Given the description of an element on the screen output the (x, y) to click on. 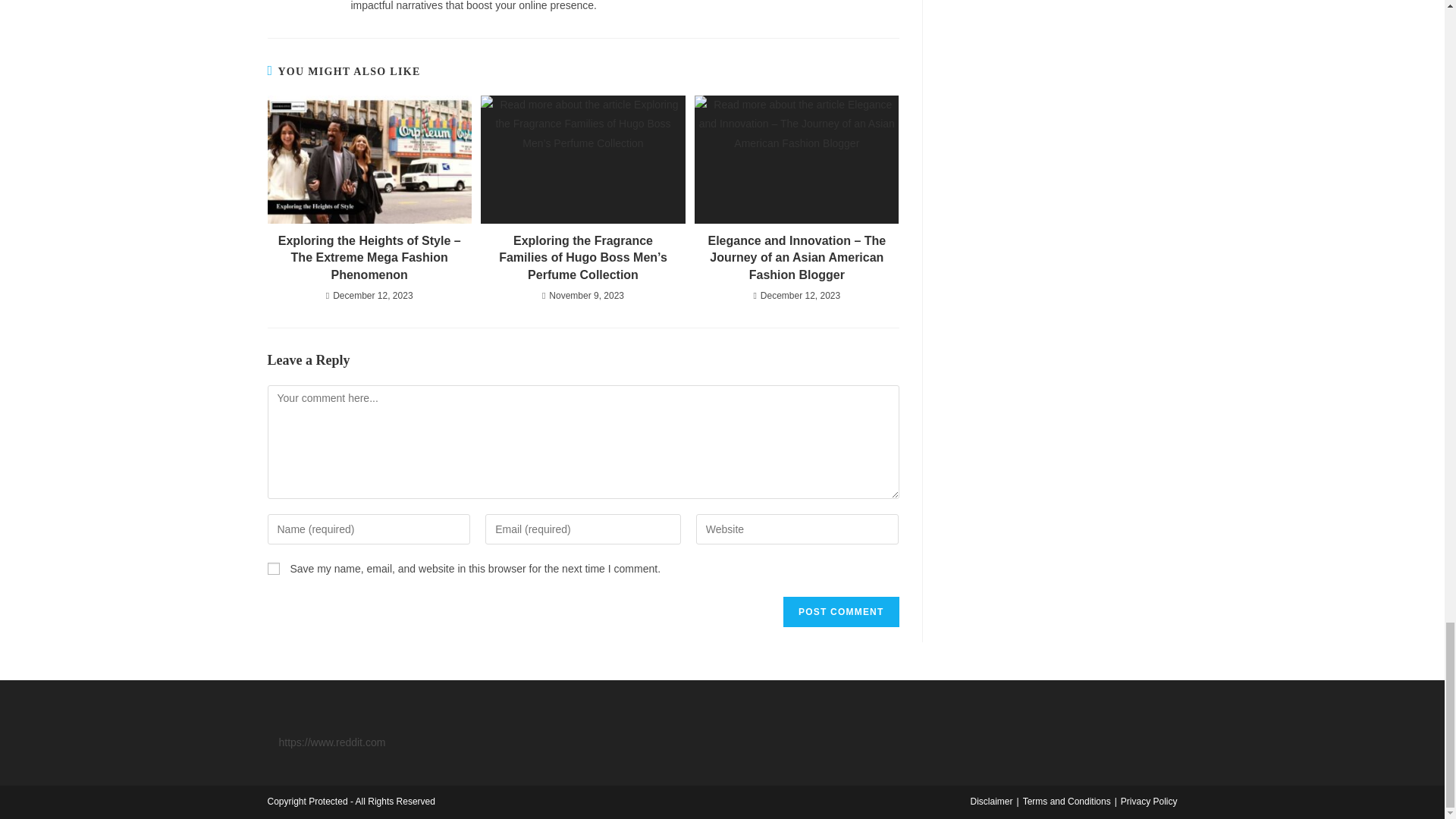
Post Comment (840, 612)
yes (272, 568)
